Given the description of an element on the screen output the (x, y) to click on. 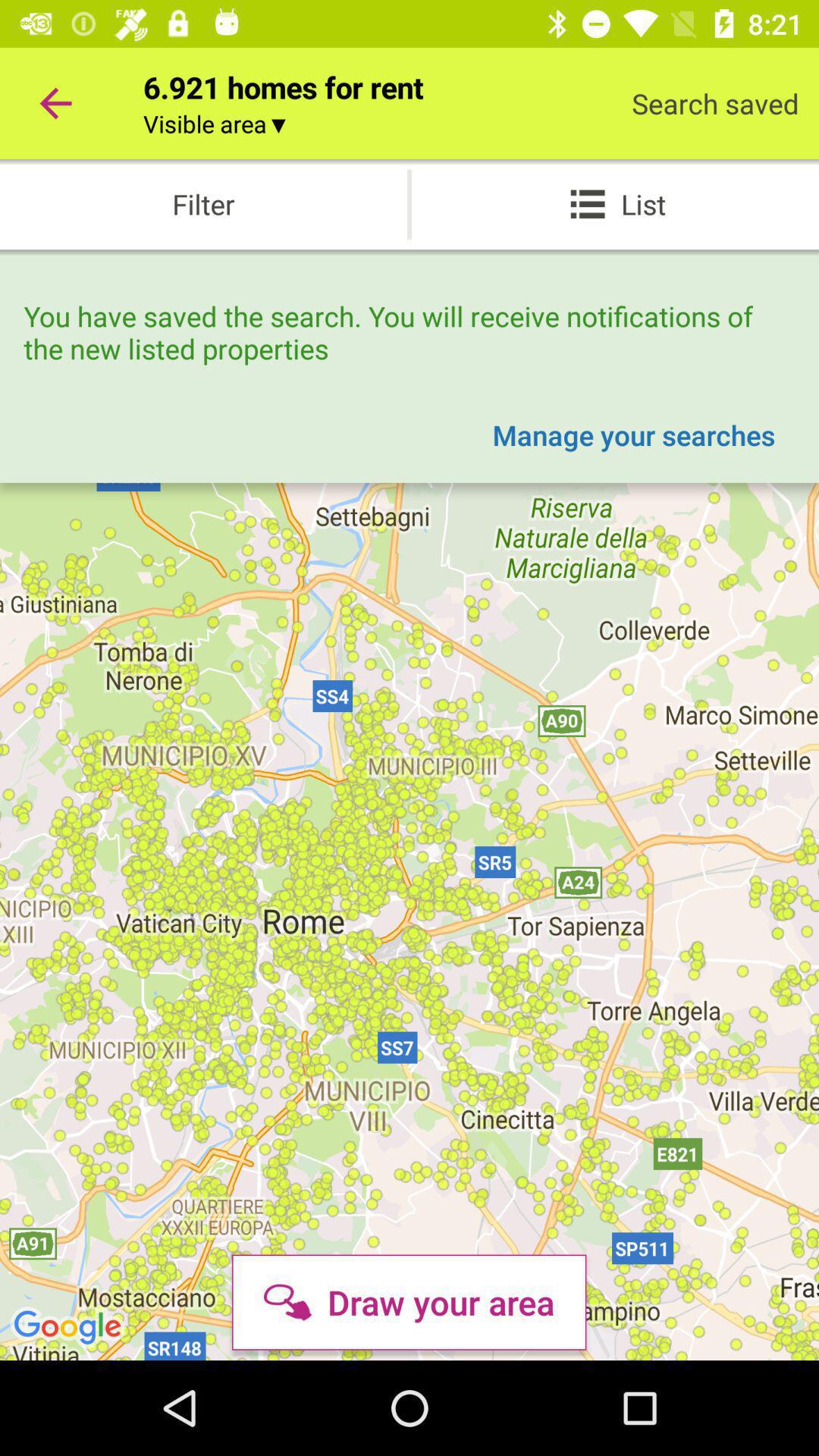
press the item above draw your area (633, 434)
